Given the description of an element on the screen output the (x, y) to click on. 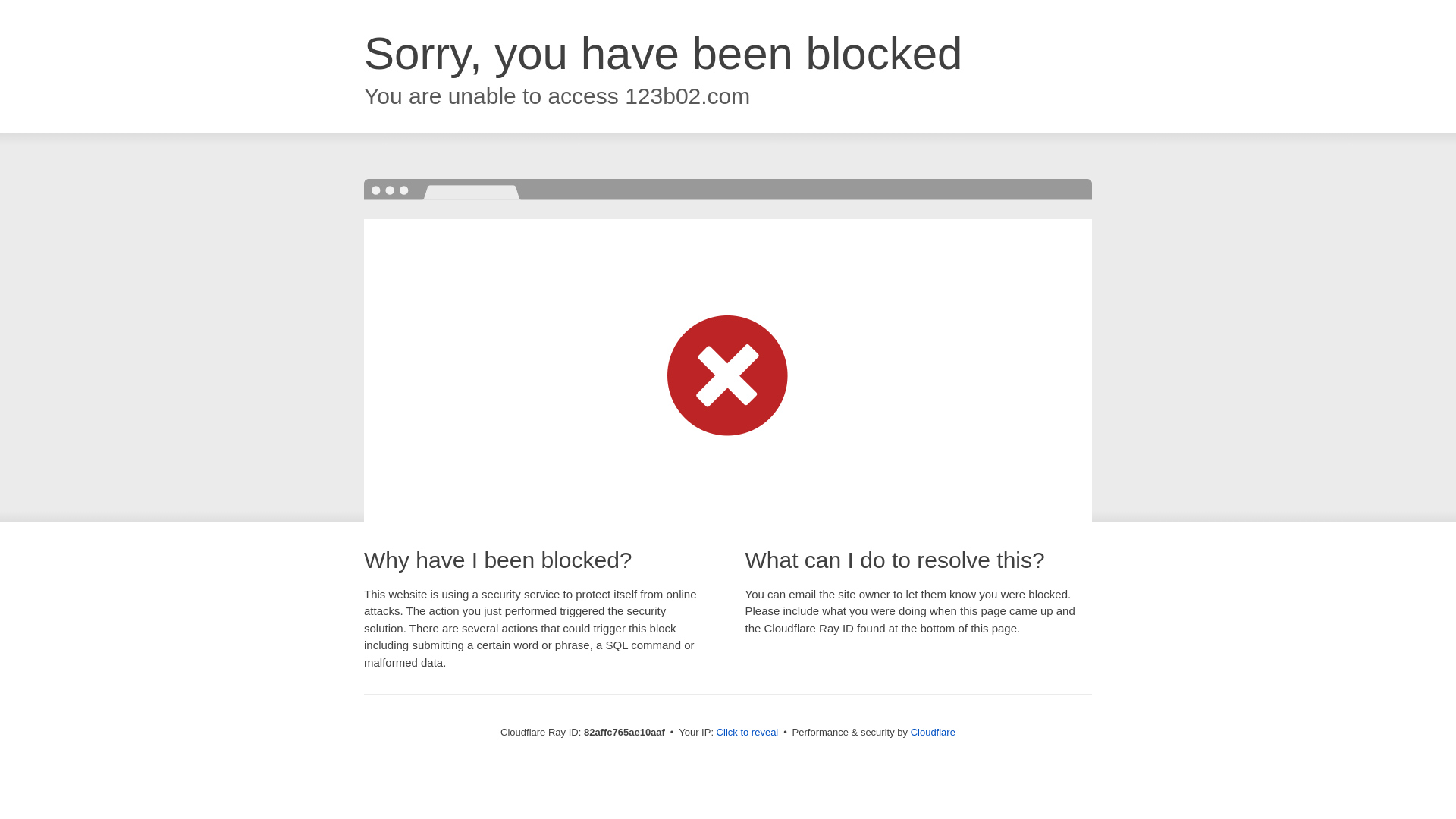
Cloudflare Element type: text (932, 731)
Click to reveal Element type: text (747, 732)
